Given the description of an element on the screen output the (x, y) to click on. 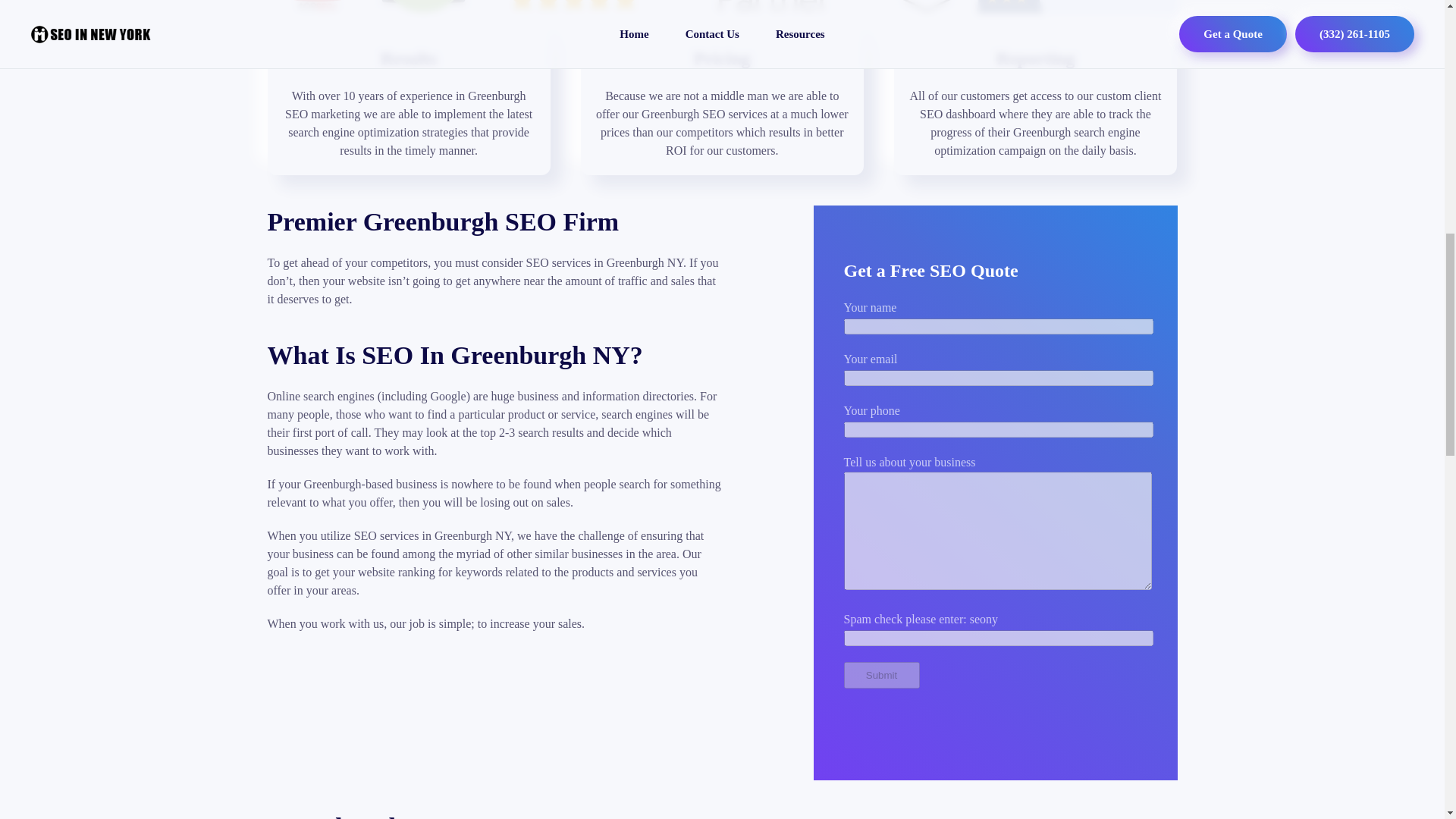
Submit (880, 674)
Submit (880, 674)
